Given the description of an element on the screen output the (x, y) to click on. 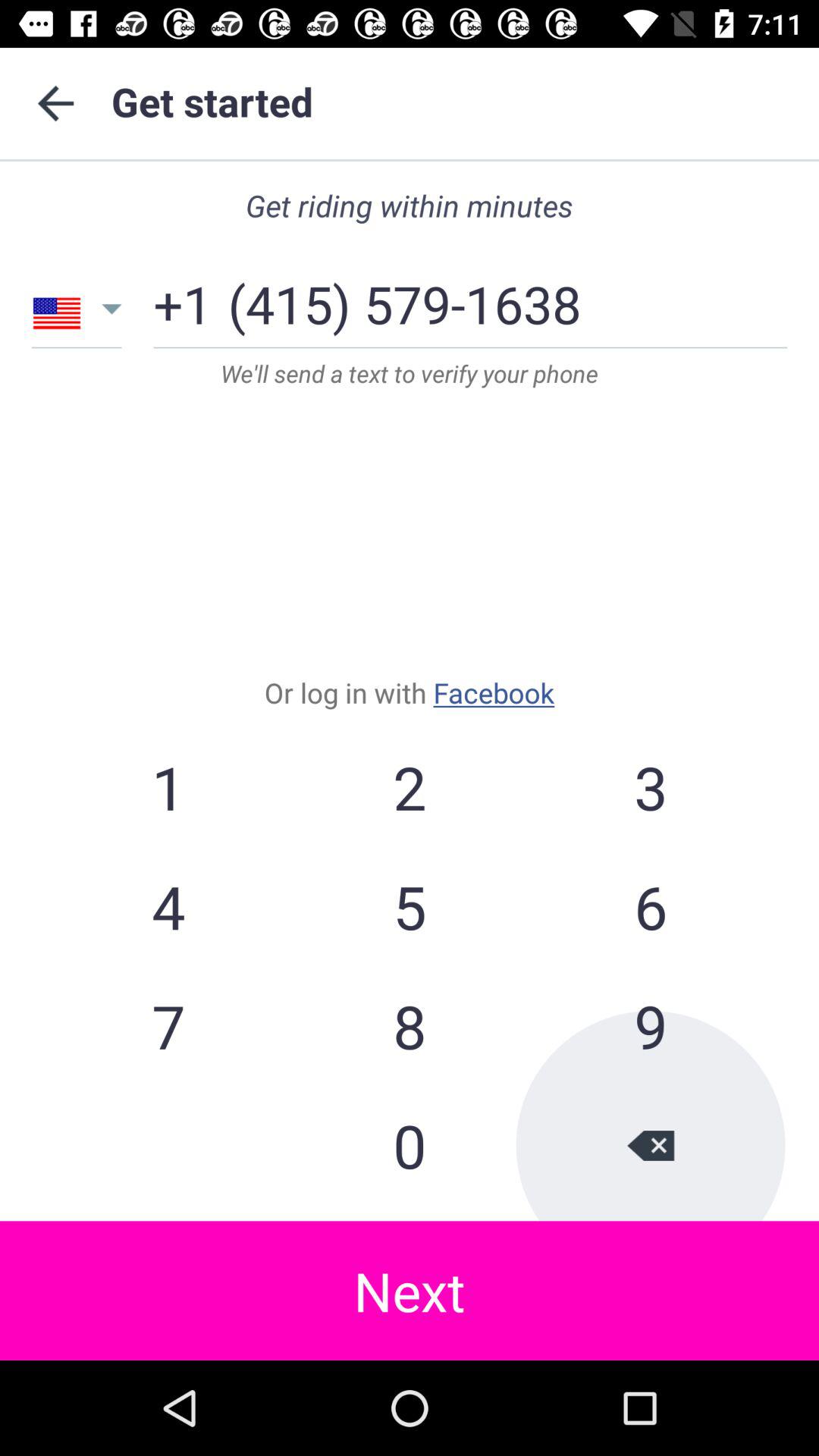
turn on item to the right of the 2 (650, 906)
